Given the description of an element on the screen output the (x, y) to click on. 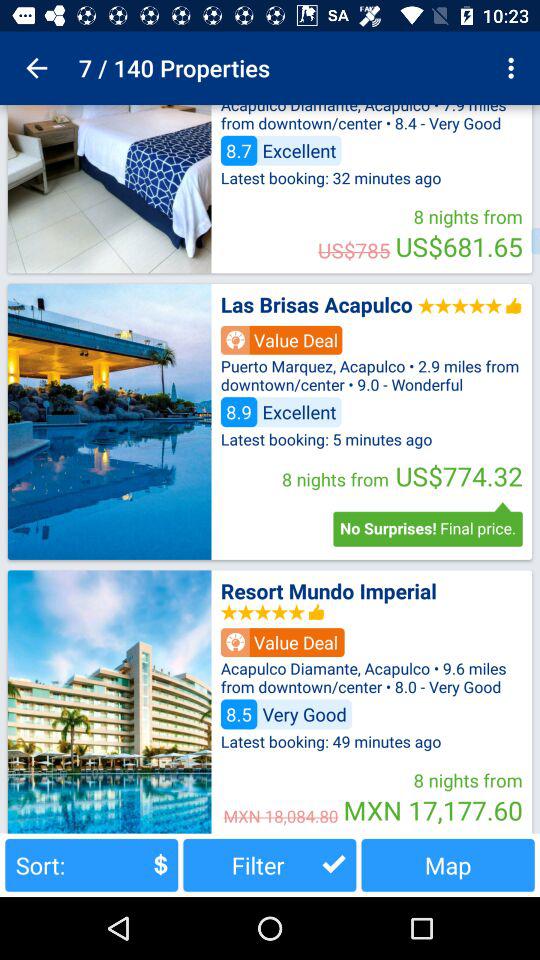
jump until map button (447, 864)
